Given the description of an element on the screen output the (x, y) to click on. 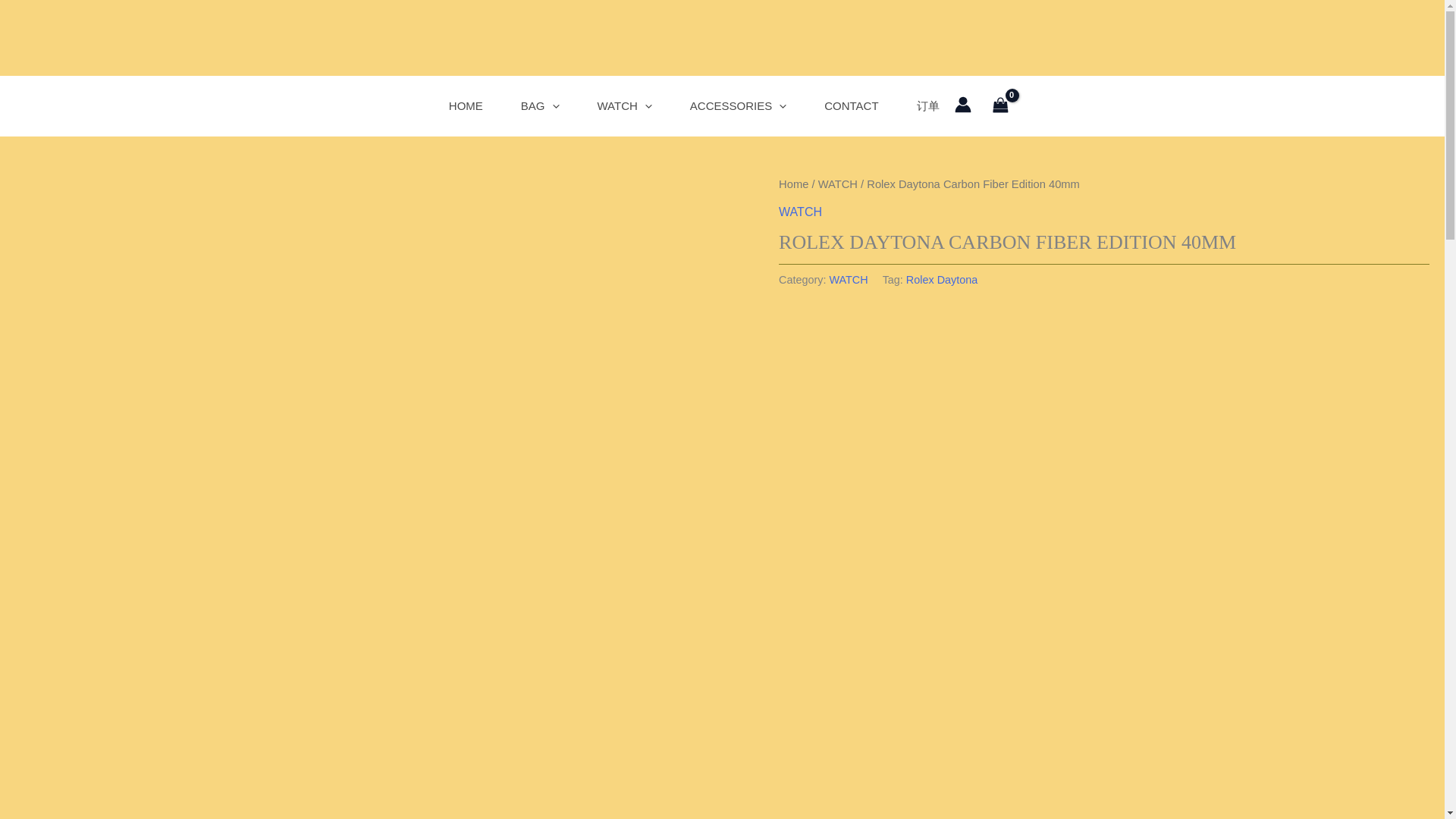
Log In (683, 627)
BAG (540, 106)
WATCH (623, 106)
CONTACT (850, 106)
ACCESSORIES (738, 106)
HOME (465, 106)
